Given the description of an element on the screen output the (x, y) to click on. 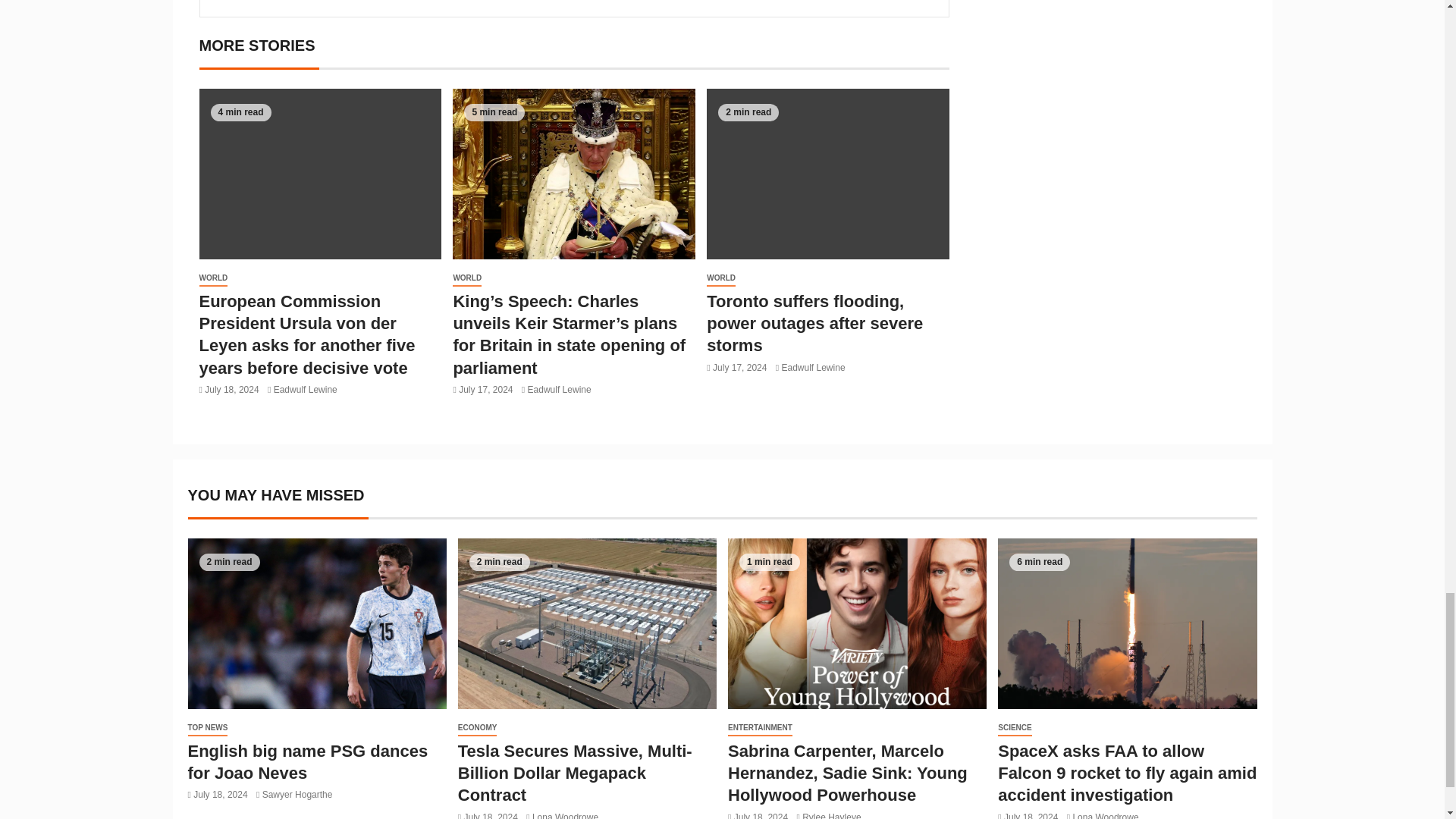
WORLD (212, 278)
Eadwulf Lewine (305, 389)
WORLD (466, 278)
